Given the description of an element on the screen output the (x, y) to click on. 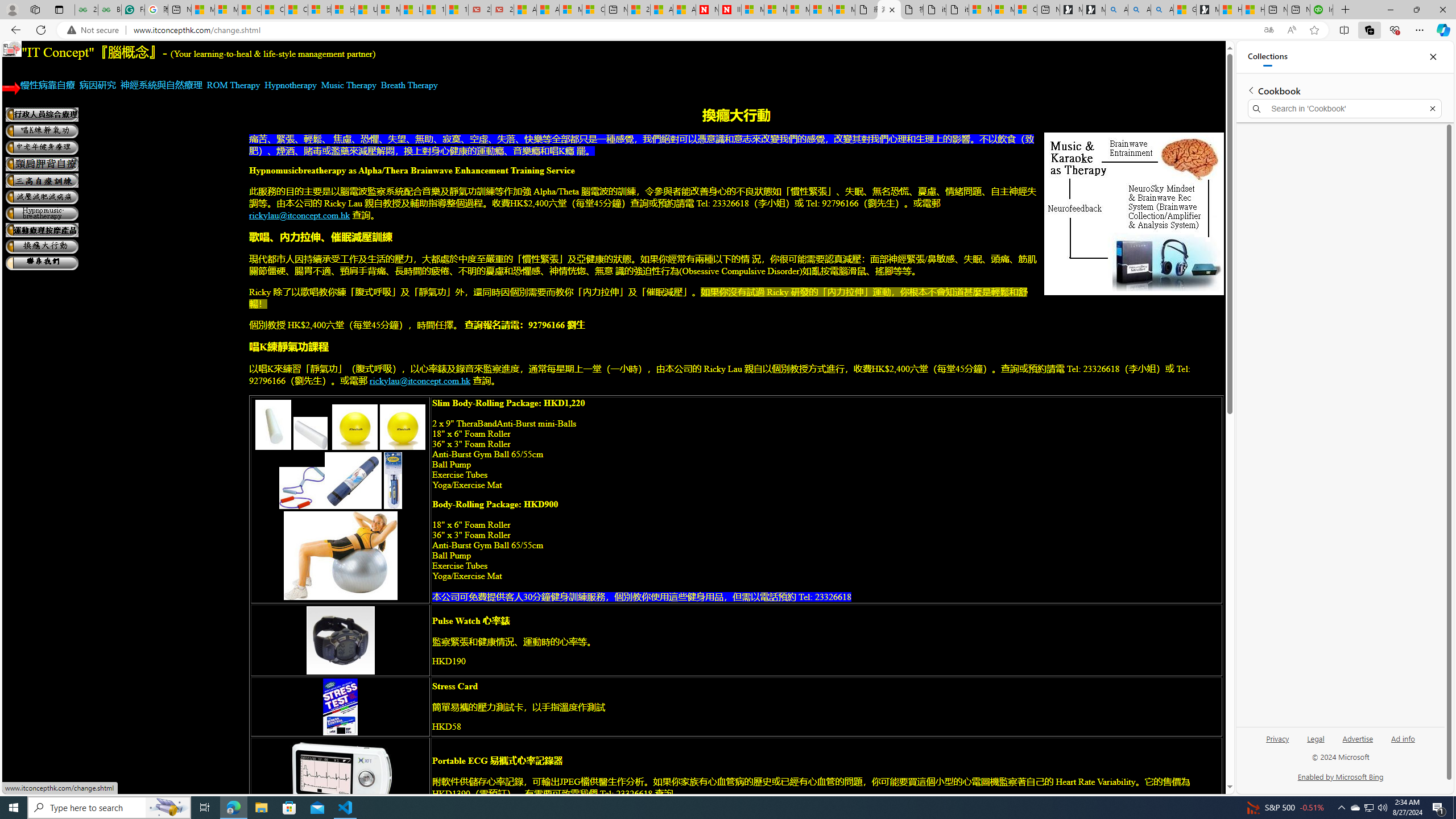
Legal (1315, 738)
Alabama high school quarterback dies - Search Videos (1161, 9)
Personal Profile (12, 9)
Advertise (1358, 742)
Search in 'Cookbook' (1345, 108)
Hypnotherapy (290, 85)
Copilot (Ctrl+Shift+.) (1442, 29)
Back (13, 29)
Not secure (95, 29)
Collections (1369, 29)
Legal (1315, 742)
Cloud Computing Services | Microsoft Azure (593, 9)
Intuit QuickBooks Online - Quickbooks (1321, 9)
